Given the description of an element on the screen output the (x, y) to click on. 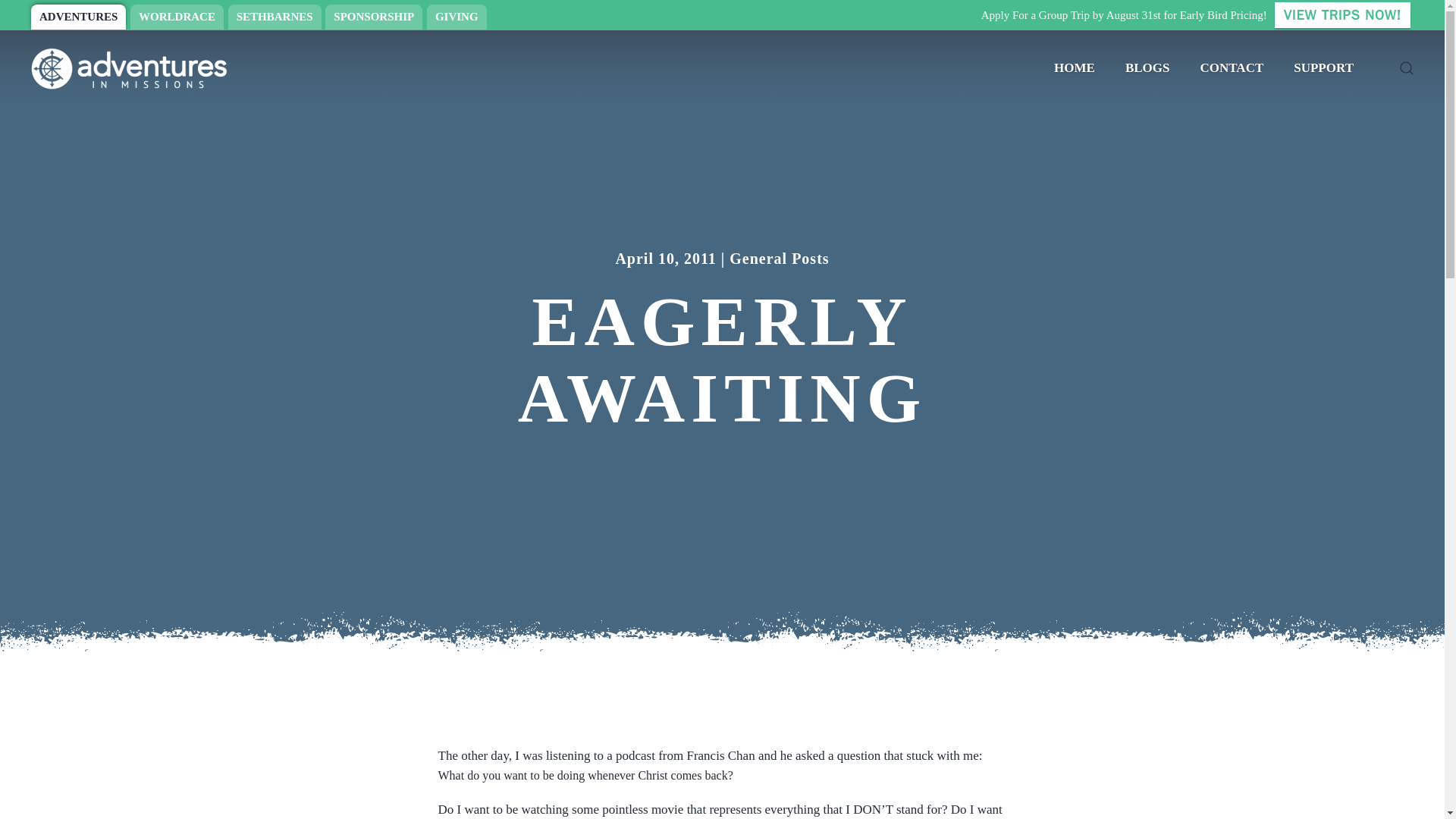
General Posts (778, 249)
WORLDRACE (177, 16)
GIVING (456, 16)
HOME (1074, 68)
SUPPORT (1323, 68)
ADVENTURES (77, 16)
BLOGS (1147, 68)
CONTACT (1231, 68)
VIEW TRIPS NOW! (1342, 14)
